Given the description of an element on the screen output the (x, y) to click on. 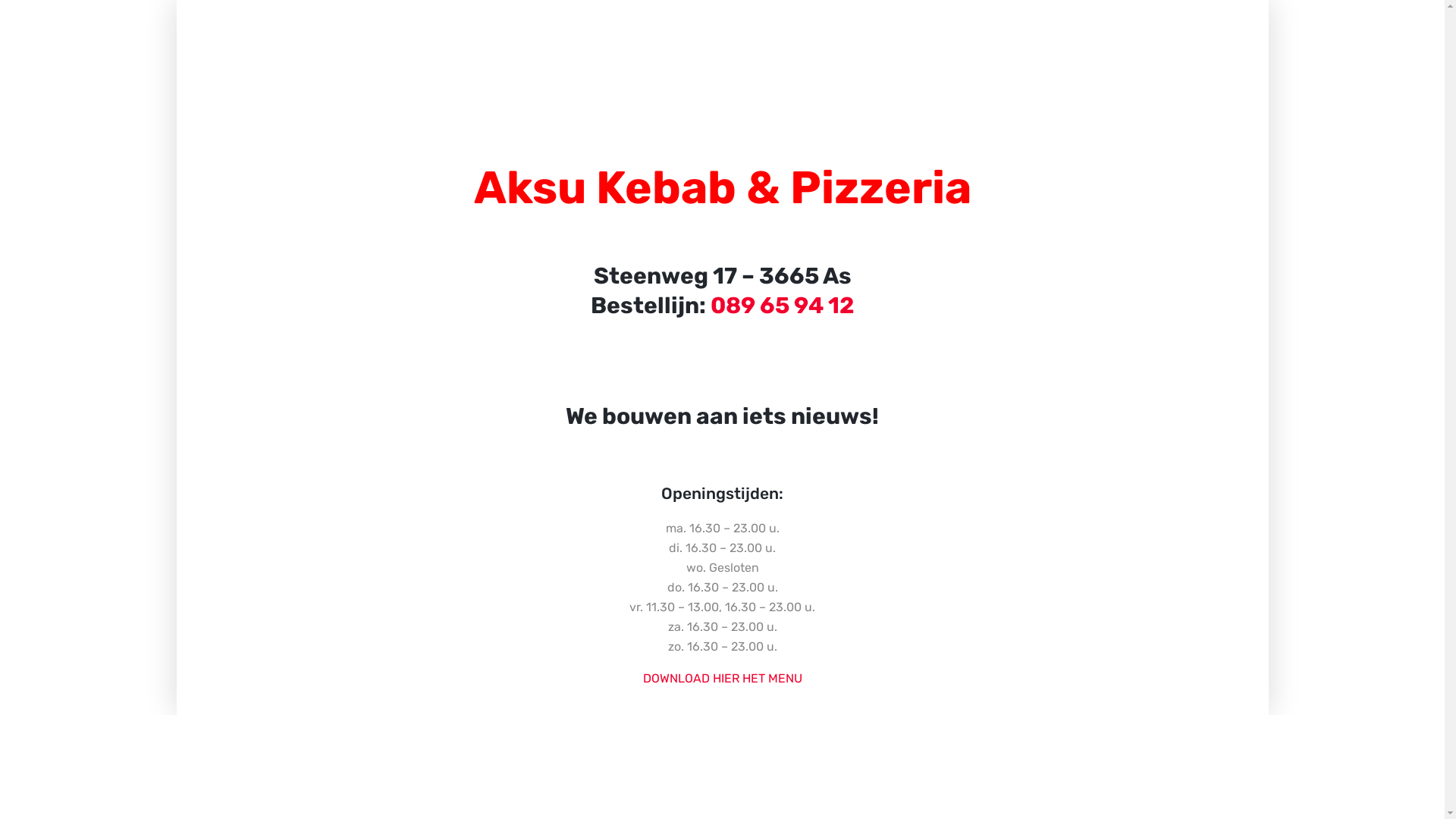
Zoek producten Element type: text (15, 13)
DOWNLOAD HIER HET MENU Element type: text (722, 678)
089 65 94 12 Element type: text (781, 304)
